Given the description of an element on the screen output the (x, y) to click on. 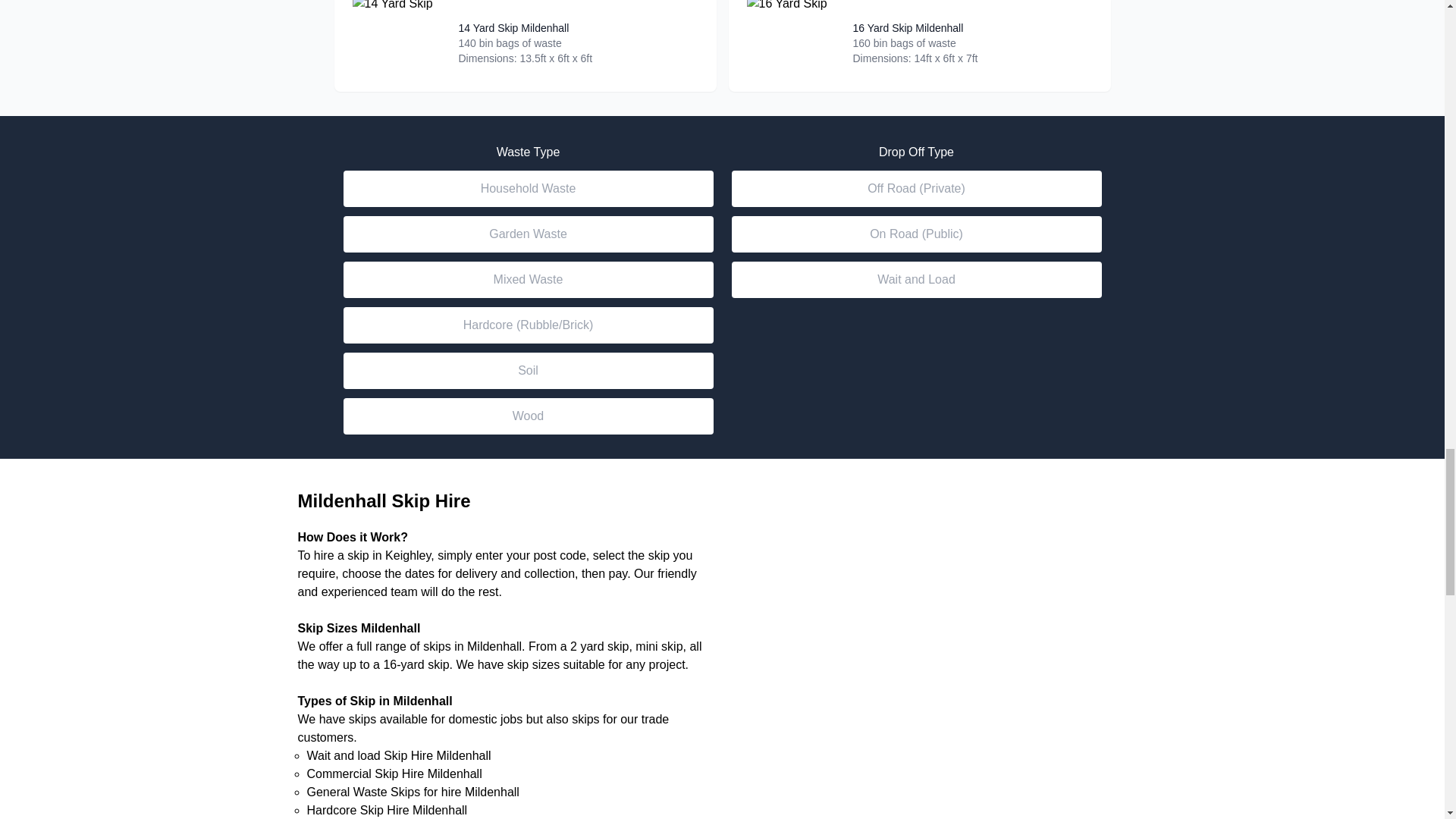
Household Waste (527, 188)
